Given the description of an element on the screen output the (x, y) to click on. 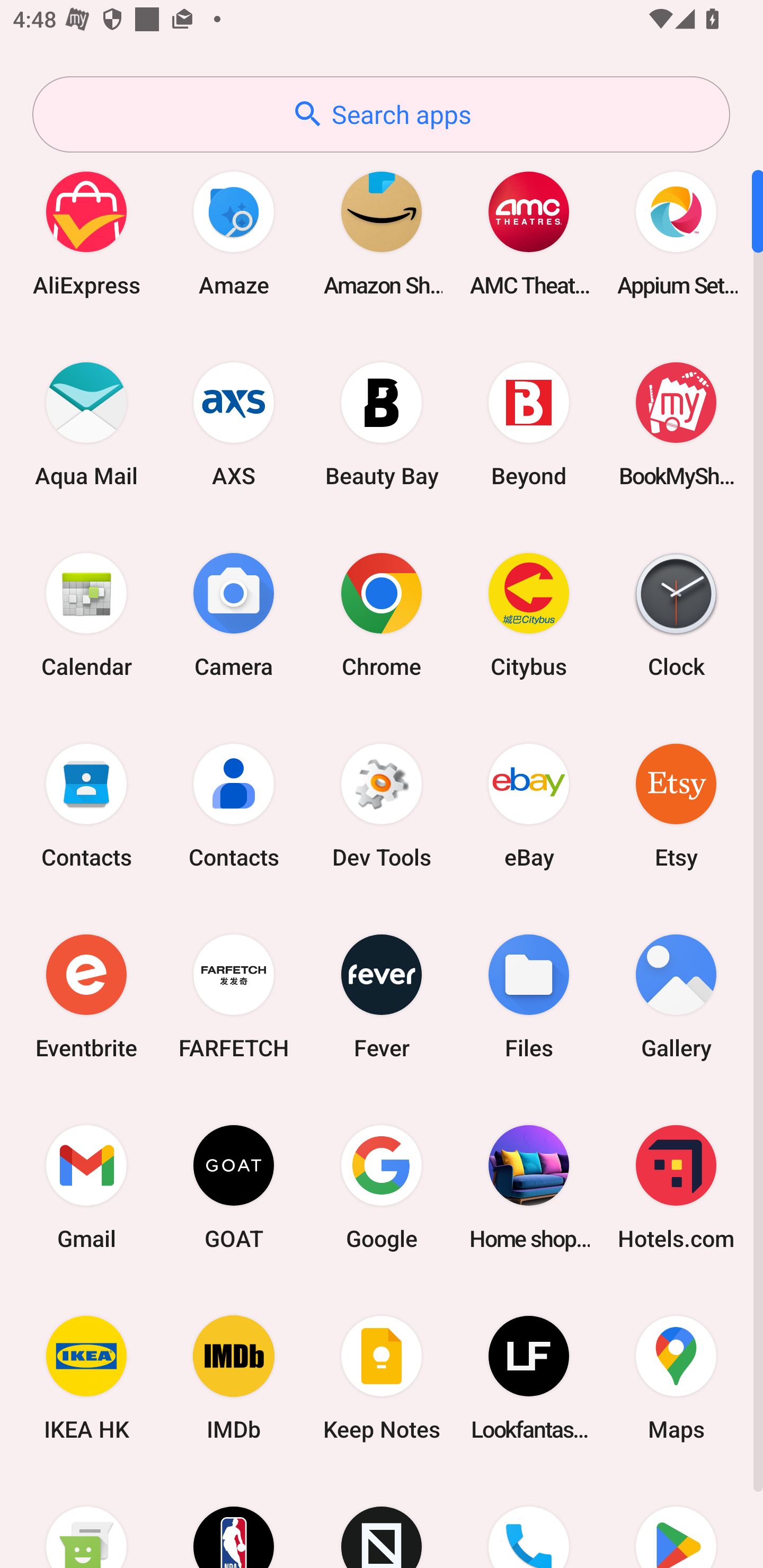
  Search apps (381, 114)
AliExpress (86, 233)
Amaze (233, 233)
Amazon Shopping (381, 233)
AMC Theatres (528, 233)
Appium Settings (676, 233)
Aqua Mail (86, 424)
AXS (233, 424)
Beauty Bay (381, 424)
Beyond (528, 424)
BookMyShow (676, 424)
Calendar (86, 614)
Camera (233, 614)
Chrome (381, 614)
Citybus (528, 614)
Clock (676, 614)
Contacts (86, 805)
Contacts (233, 805)
Dev Tools (381, 805)
eBay (528, 805)
Etsy (676, 805)
Eventbrite (86, 996)
FARFETCH (233, 996)
Fever (381, 996)
Files (528, 996)
Gallery (676, 996)
Gmail (86, 1186)
GOAT (233, 1186)
Google (381, 1186)
Home shopping (528, 1186)
Hotels.com (676, 1186)
IKEA HK (86, 1377)
IMDb (233, 1377)
Keep Notes (381, 1377)
Lookfantastic (528, 1377)
Maps (676, 1377)
